Given the description of an element on the screen output the (x, y) to click on. 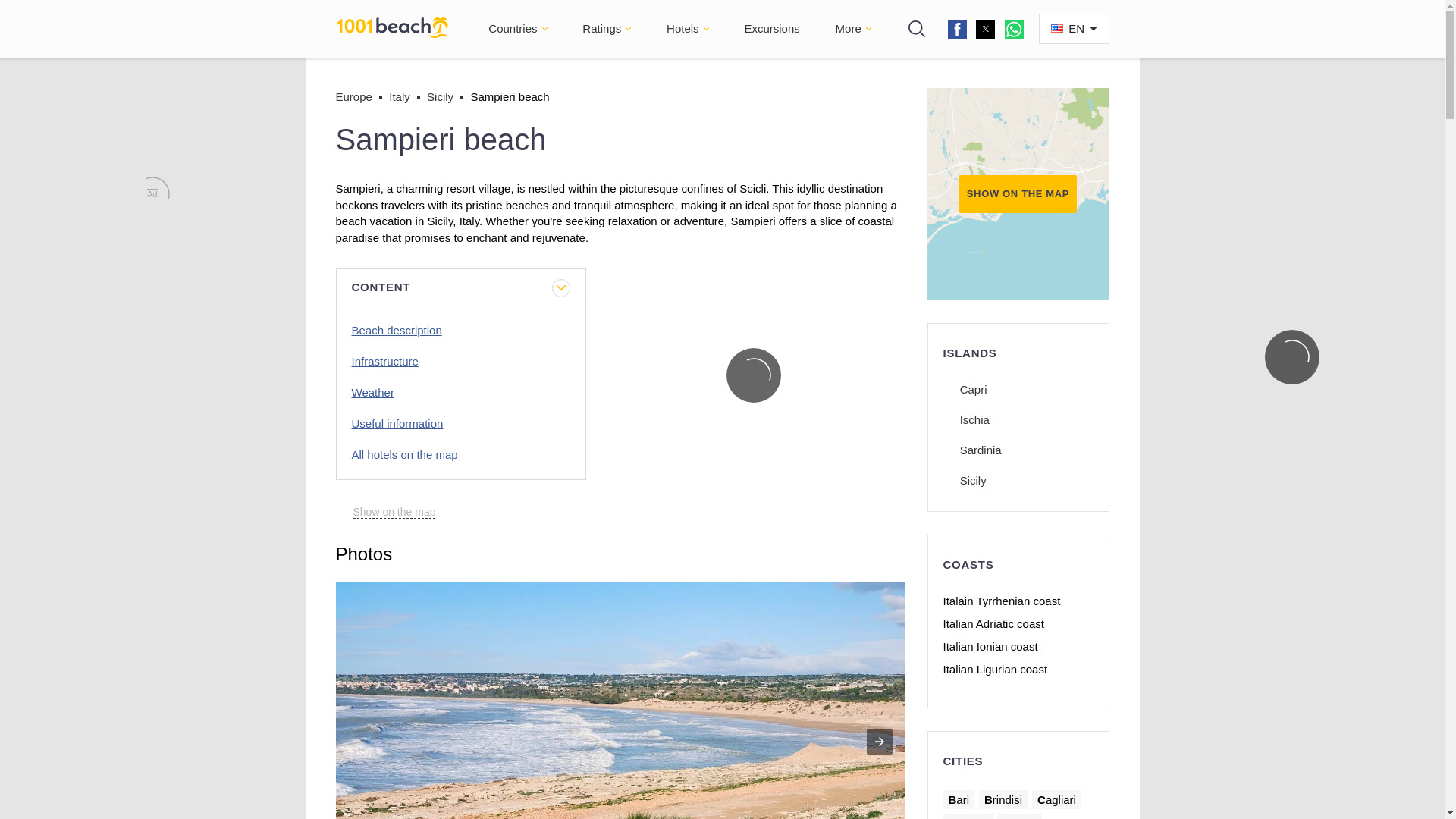
Countries (512, 28)
